Given the description of an element on the screen output the (x, y) to click on. 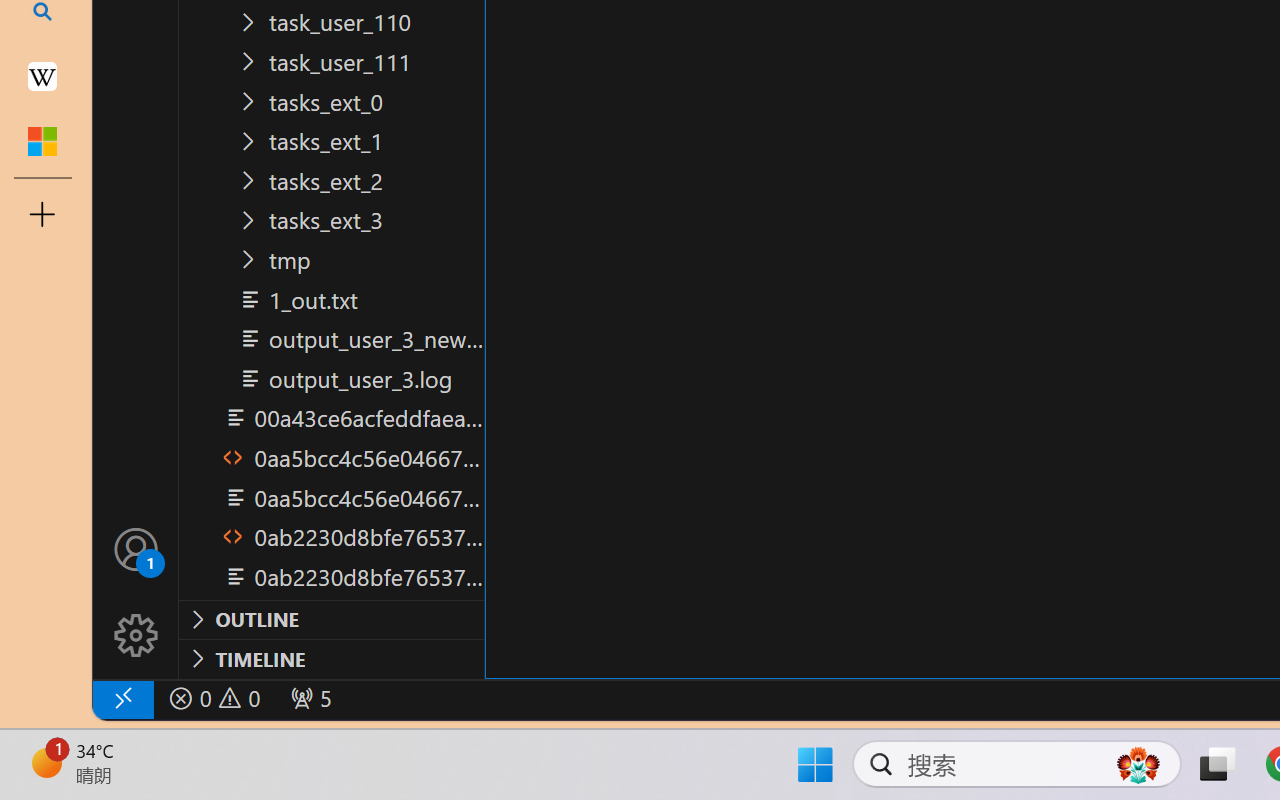
Timeline Section (331, 658)
Earth - Wikipedia (42, 75)
Forwarded Ports: 36301, 47065, 38781, 45817, 50331 (308, 698)
Manage (135, 635)
remote (122, 698)
Outline Section (331, 619)
No Problems (212, 698)
Accounts - Sign in requested (135, 548)
Manage (135, 591)
